Given the description of an element on the screen output the (x, y) to click on. 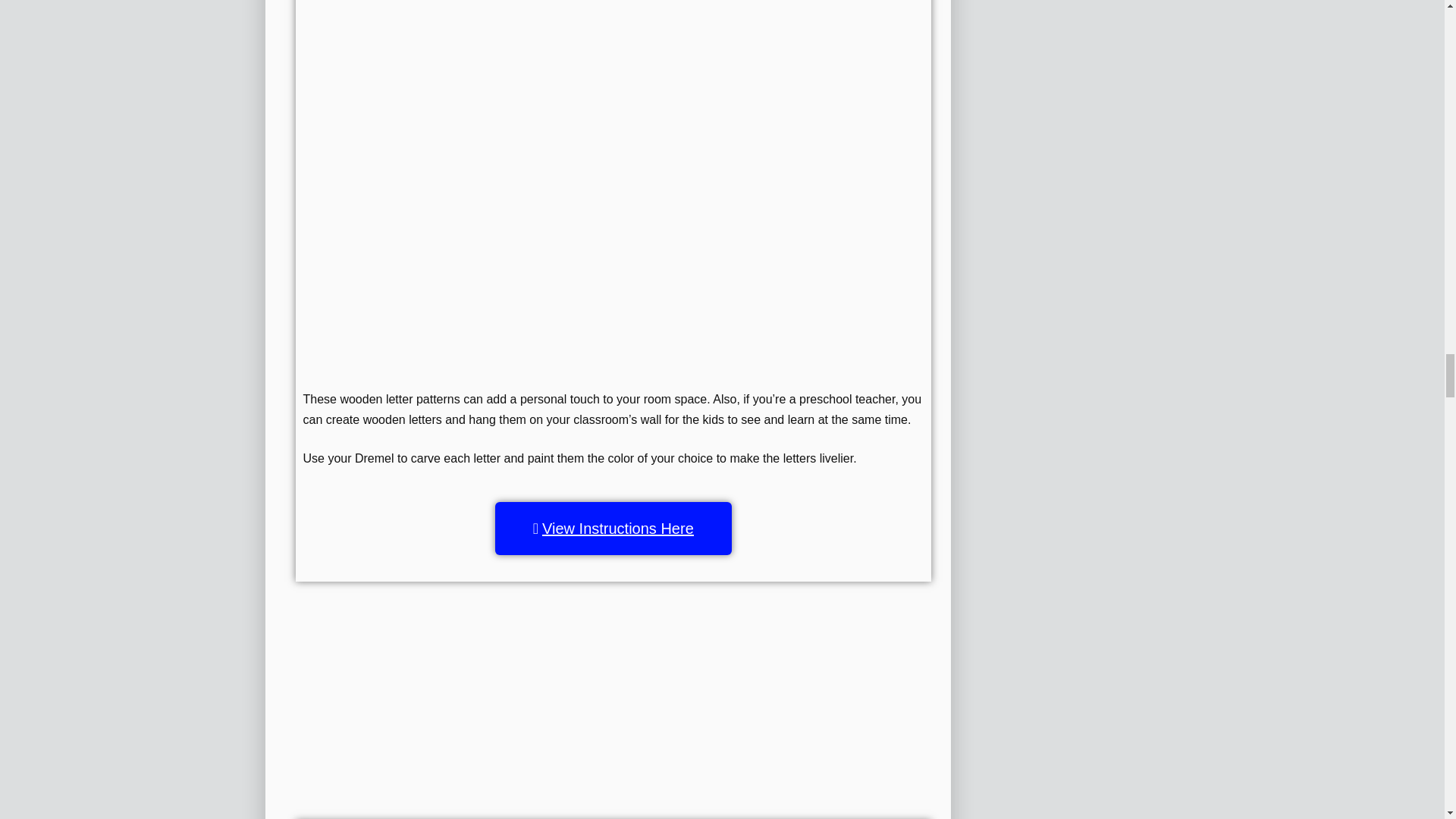
View Instructions Here (613, 528)
Wooden Letters (612, 84)
